Given the description of an element on the screen output the (x, y) to click on. 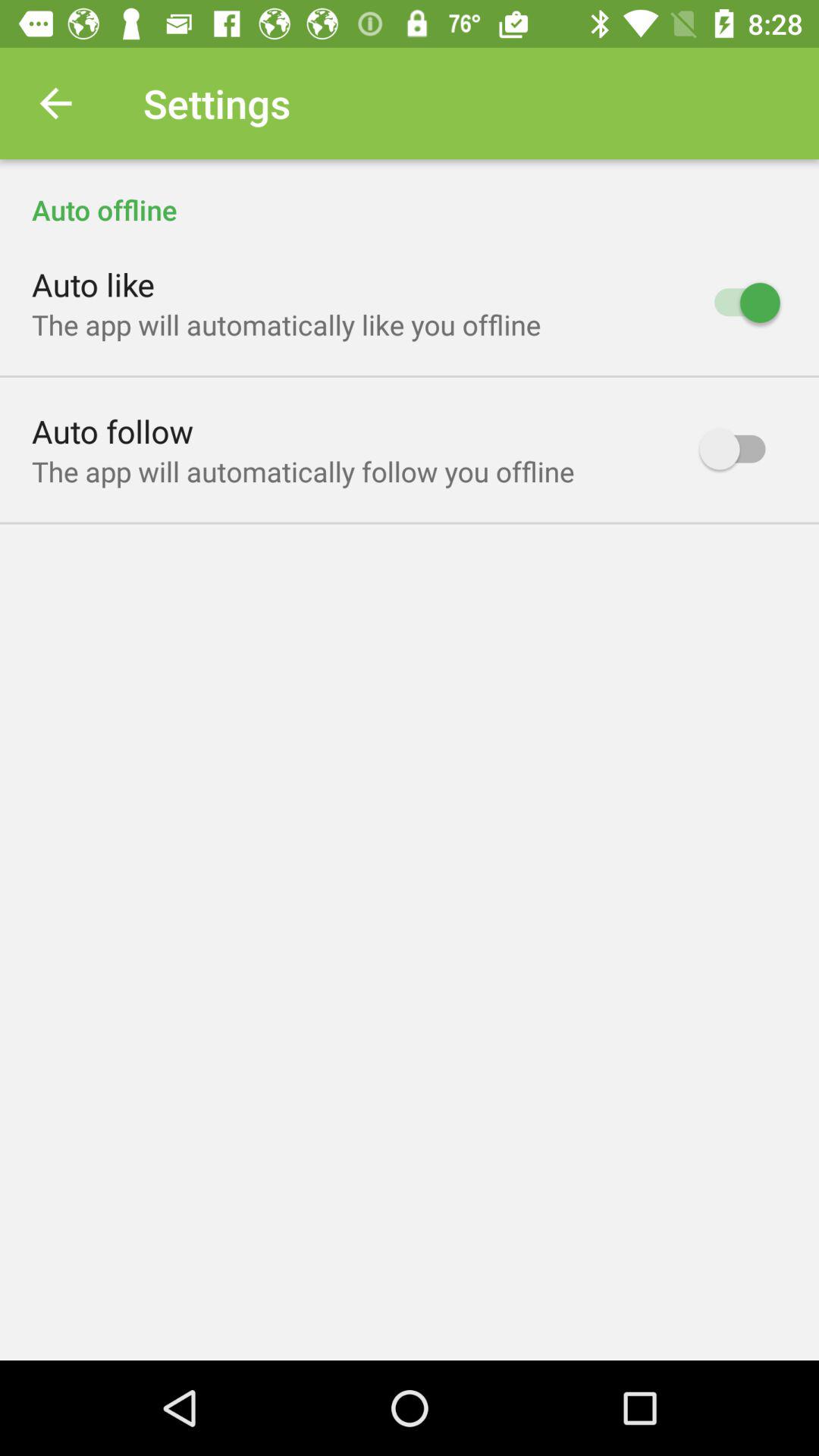
jump to auto like item (92, 283)
